Given the description of an element on the screen output the (x, y) to click on. 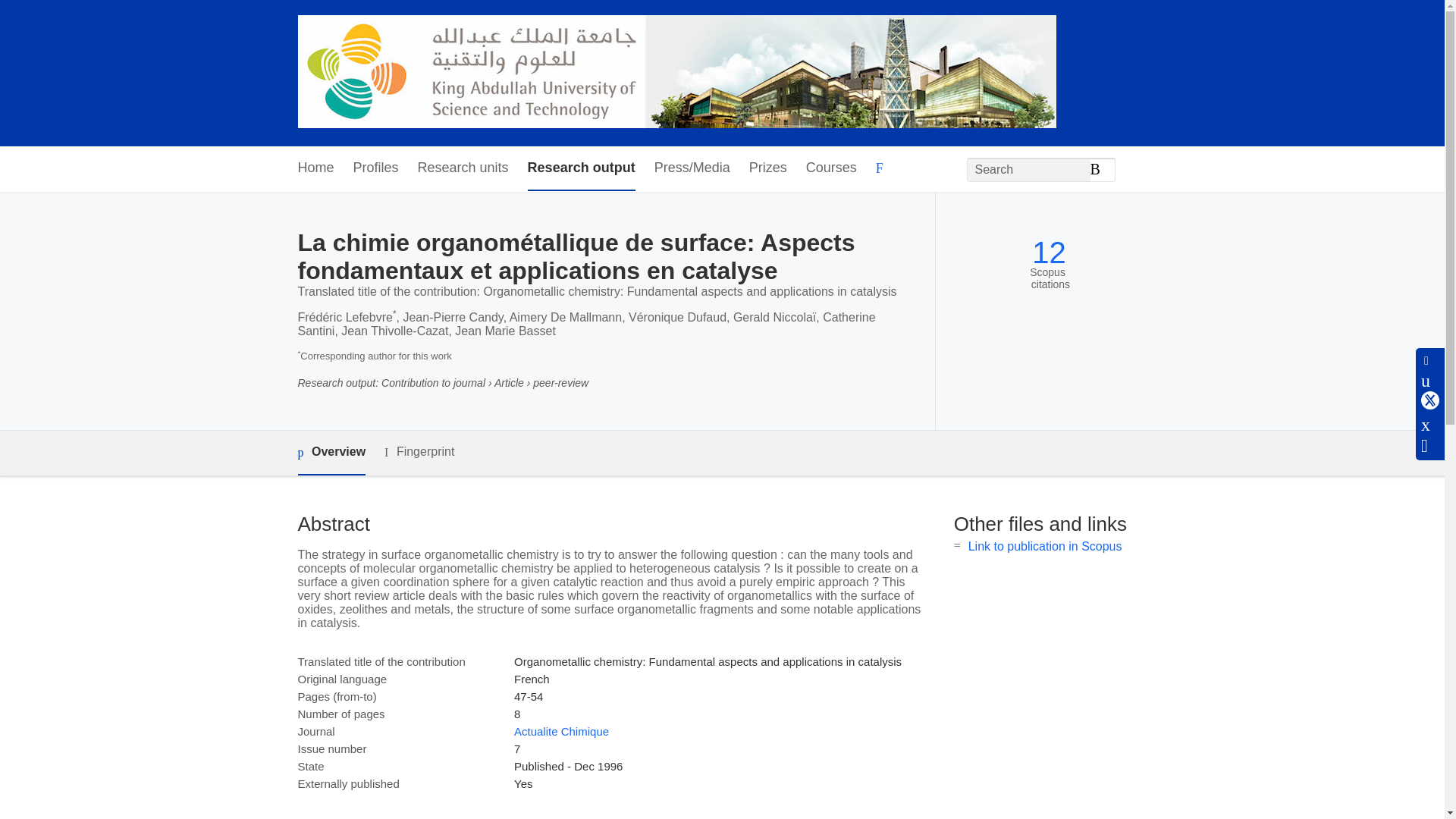
Actualite Chimique (560, 730)
Link to publication in Scopus (1045, 545)
Profiles (375, 168)
Courses (831, 168)
12 (1048, 252)
Research output (580, 168)
KAUST PORTAL FOR RESEARCHERS AND STUDENTS Home (676, 73)
Fingerprint (419, 452)
Overview (331, 452)
Research units (462, 168)
